Given the description of an element on the screen output the (x, y) to click on. 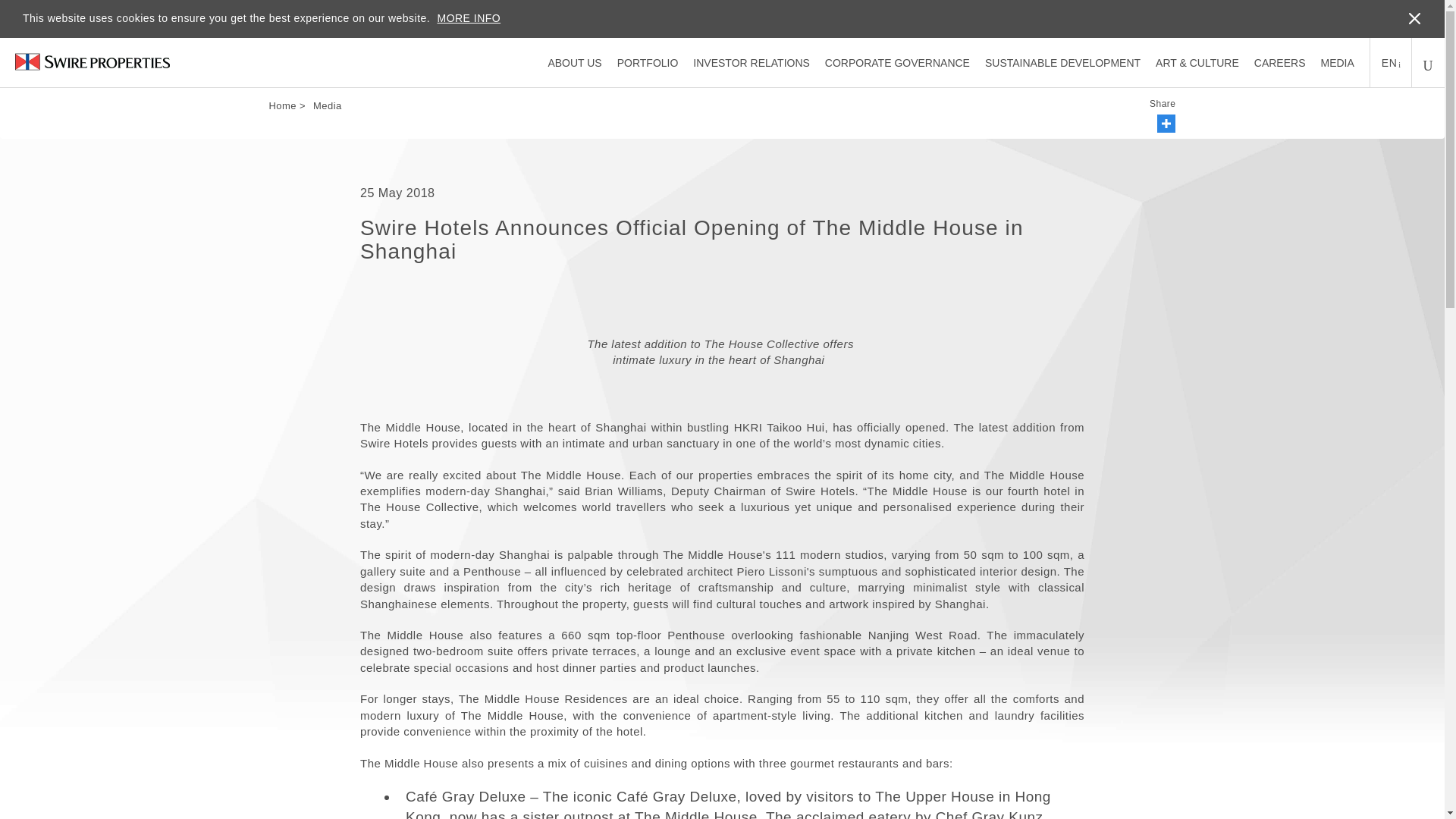
MORE INFO (469, 18)
INVESTOR RELATIONS (751, 61)
CAREERS (1279, 61)
ABOUT US (574, 61)
CORPORATE GOVERNANCE (897, 61)
PORTFOLIO (647, 61)
SUSTAINABLE DEVELOPMENT (1062, 61)
